Given the description of an element on the screen output the (x, y) to click on. 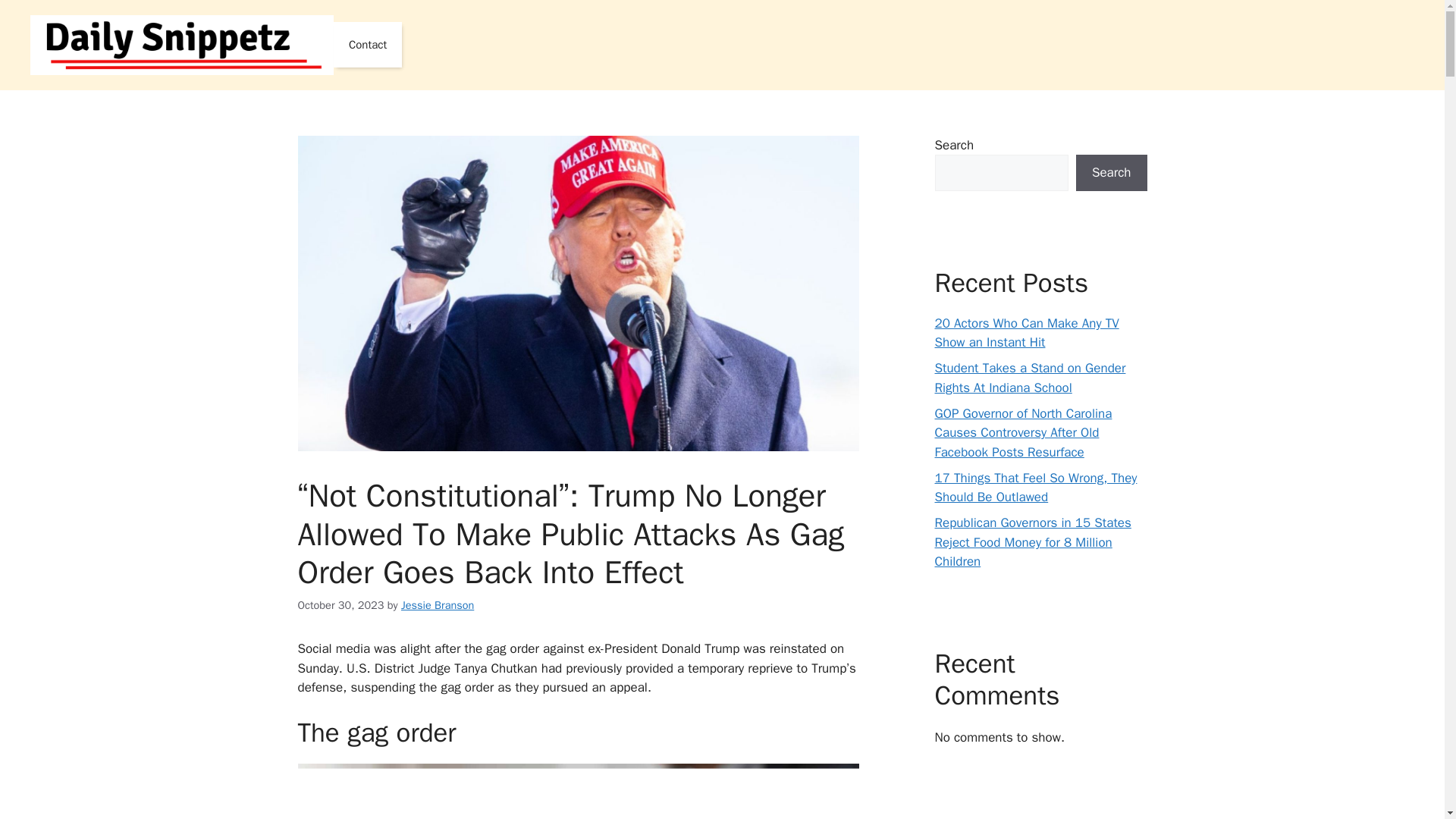
Search (1111, 172)
View all posts by Jessie Branson (437, 604)
Jessie Branson (437, 604)
20 Actors Who Can Make Any TV Show an Instant Hit (1026, 333)
17 Things That Feel So Wrong, They Should Be Outlawed (1035, 488)
Student Takes a Stand on Gender Rights At Indiana School (1029, 377)
Contact (367, 44)
